Given the description of an element on the screen output the (x, y) to click on. 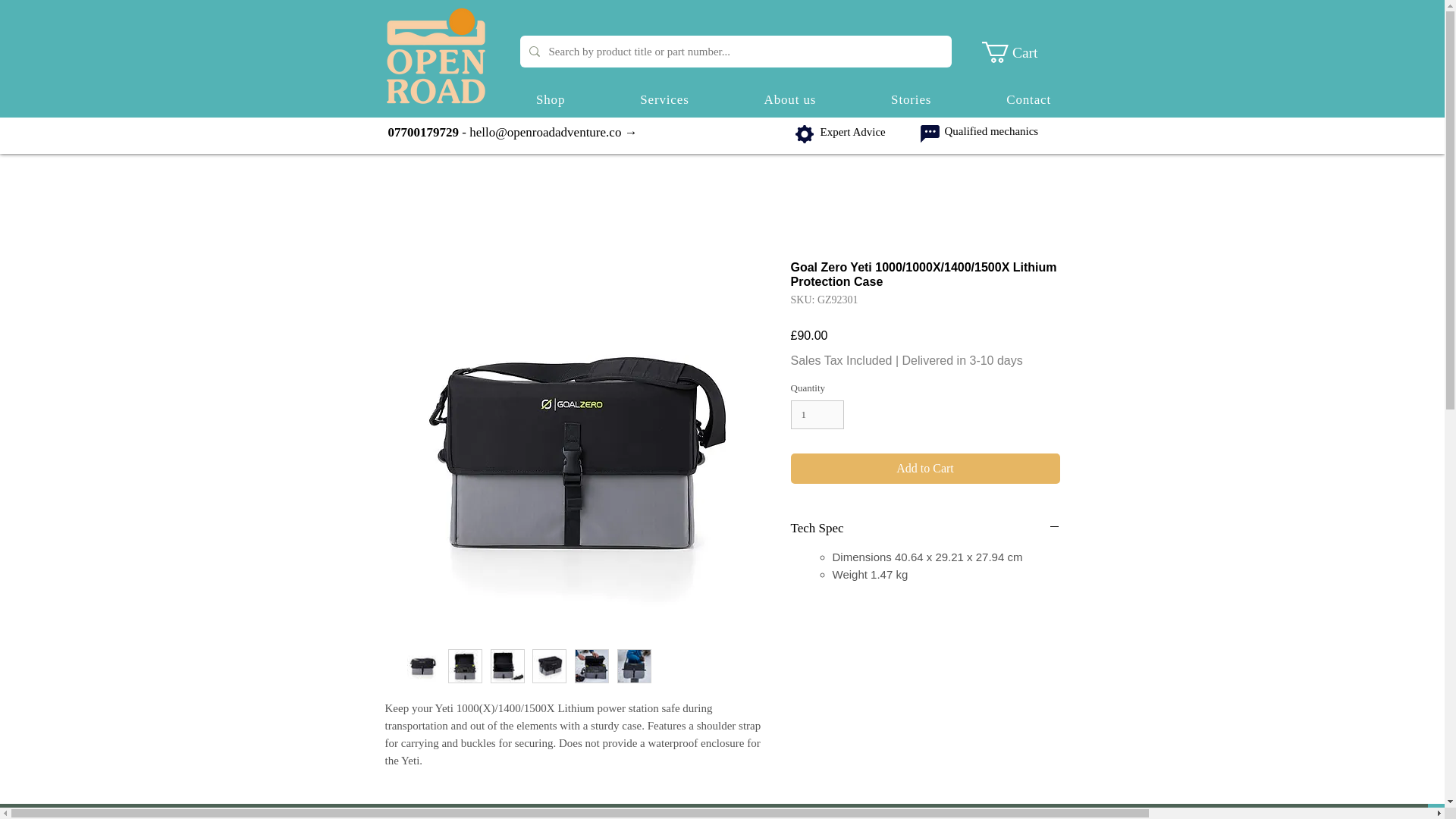
About us (794, 100)
Services (789, 100)
1 (664, 100)
Contact (817, 414)
Cart (1029, 100)
Stories (1020, 52)
Cart (911, 100)
